Given the description of an element on the screen output the (x, y) to click on. 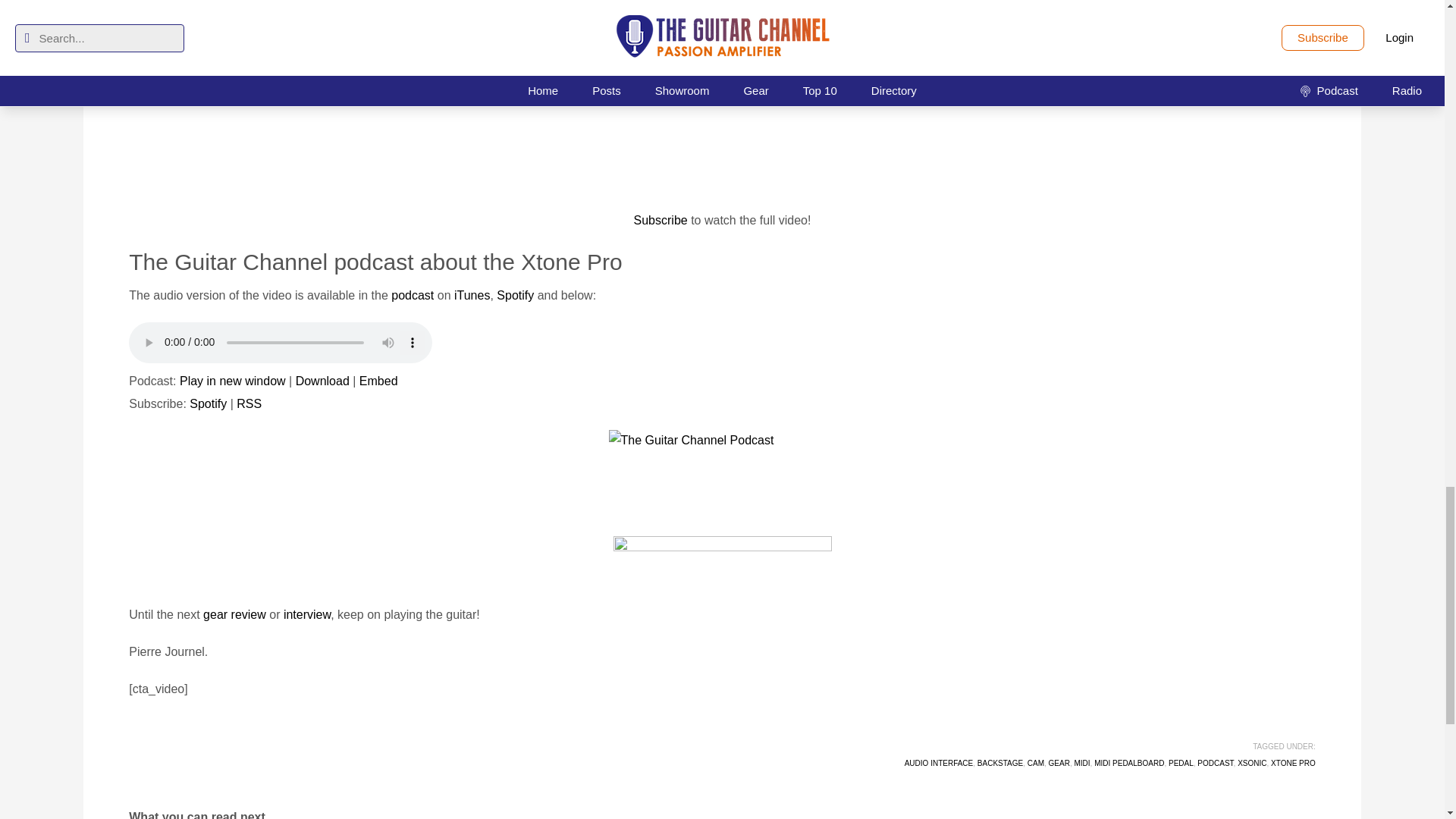
Subscribe on Spotify (208, 403)
Subscribe (660, 219)
Embed (378, 380)
Subscribe via RSS (248, 403)
Play in new window (232, 380)
Download (322, 380)
